Given the description of an element on the screen output the (x, y) to click on. 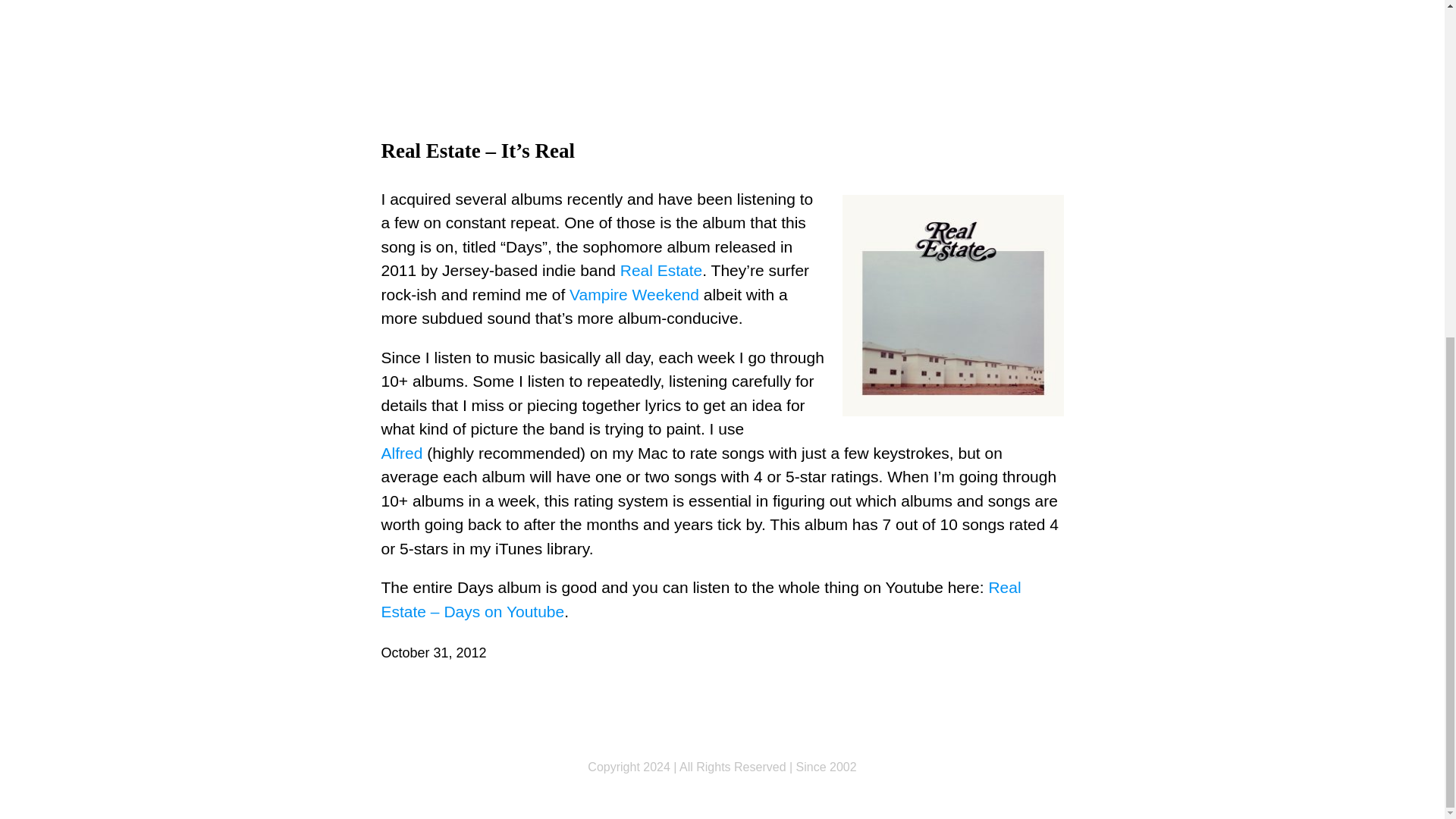
Vampire Weekend (633, 294)
Alfred (401, 452)
Real Estate (661, 270)
